Given the description of an element on the screen output the (x, y) to click on. 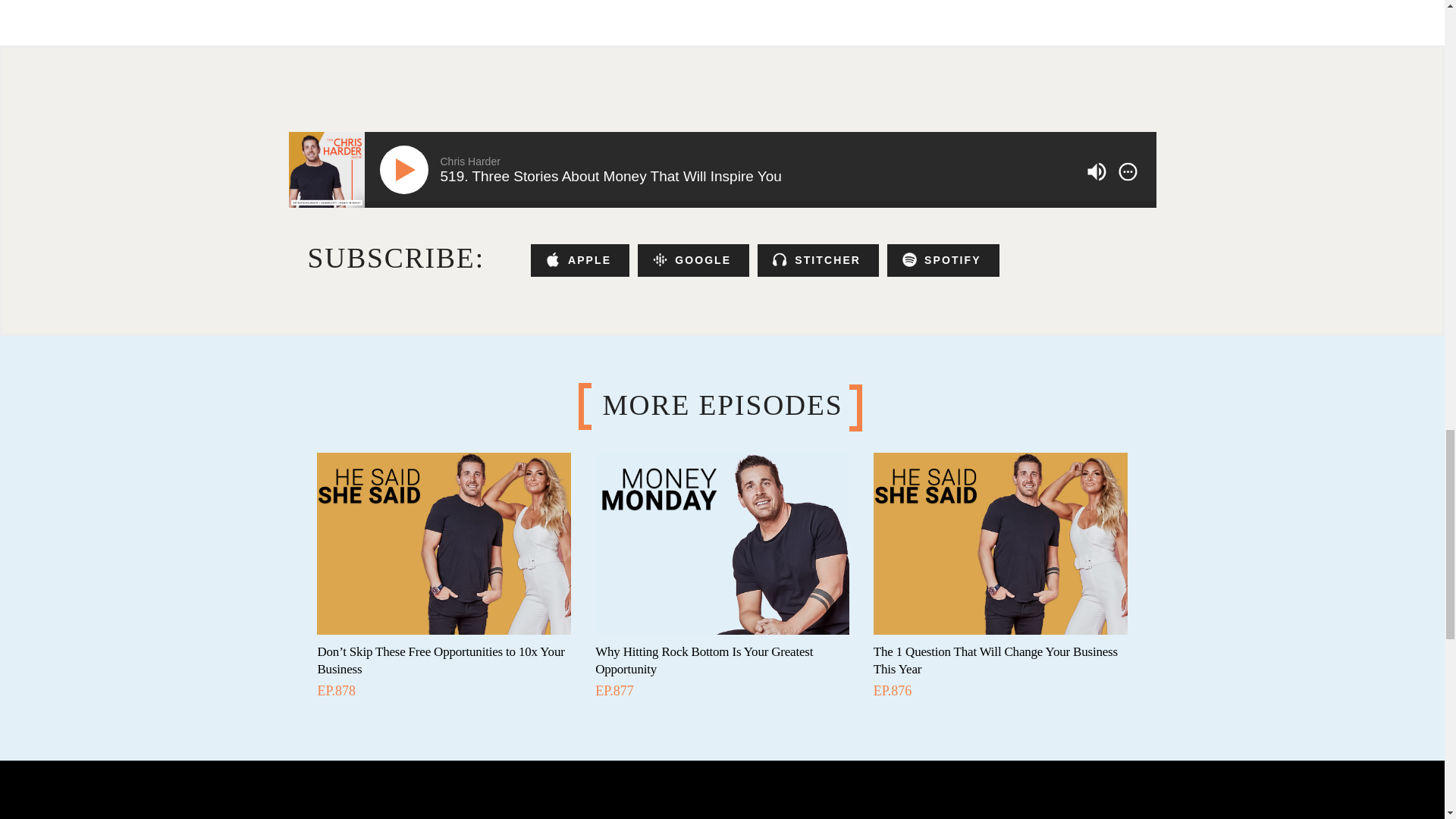
GOOGLE (693, 260)
APPLE (579, 260)
The 1 Question That Will Change Your Business This Year (995, 659)
SPOTIFY (942, 260)
More (1128, 171)
Why Hitting Rock Bottom Is Your Greatest Opportunity (703, 659)
STITCHER (818, 260)
